Given the description of an element on the screen output the (x, y) to click on. 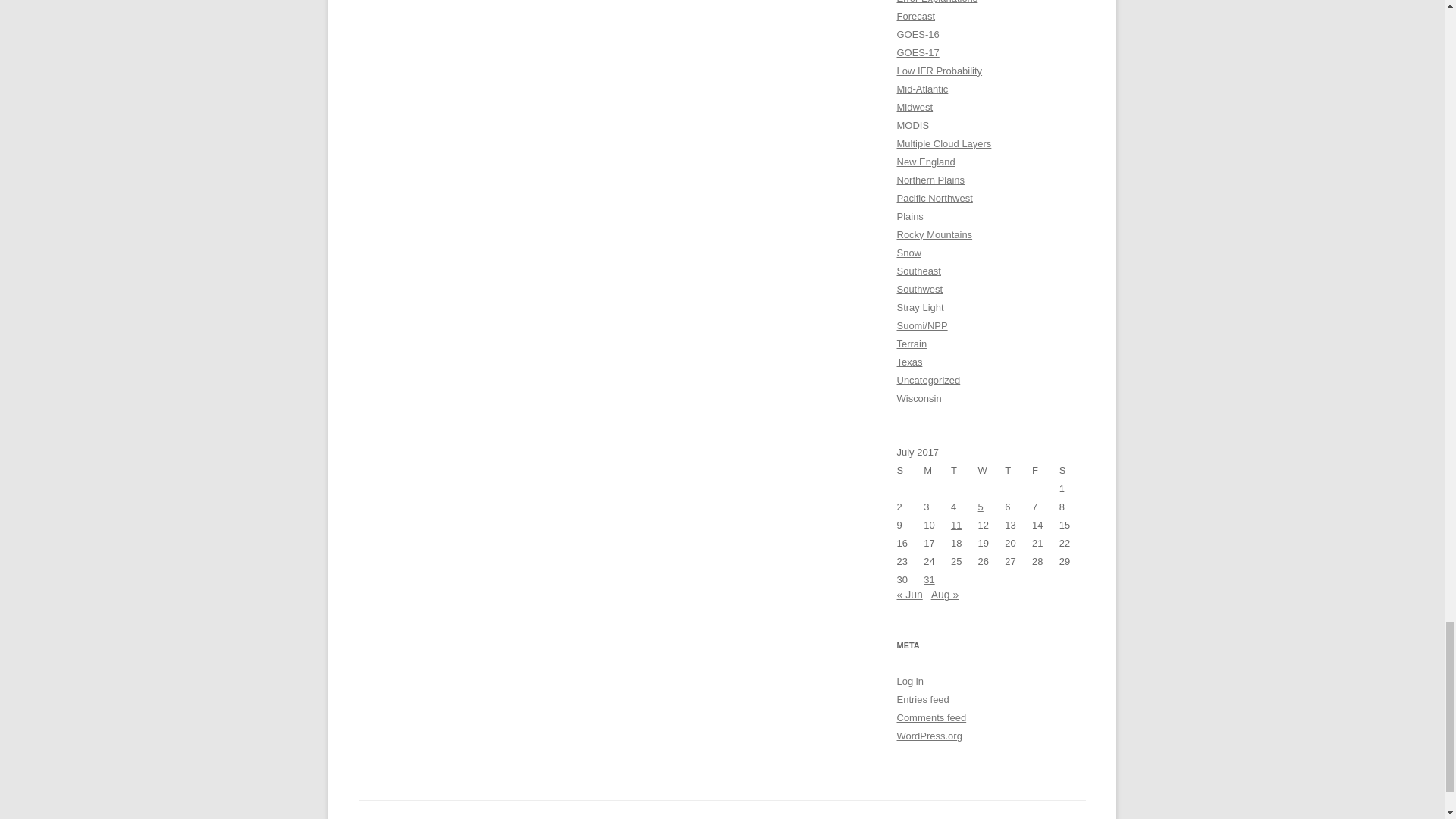
Monday (936, 470)
Tuesday (964, 470)
Friday (1045, 470)
Sunday (909, 470)
Saturday (1072, 470)
Thursday (1018, 470)
Wednesday (992, 470)
